Given the description of an element on the screen output the (x, y) to click on. 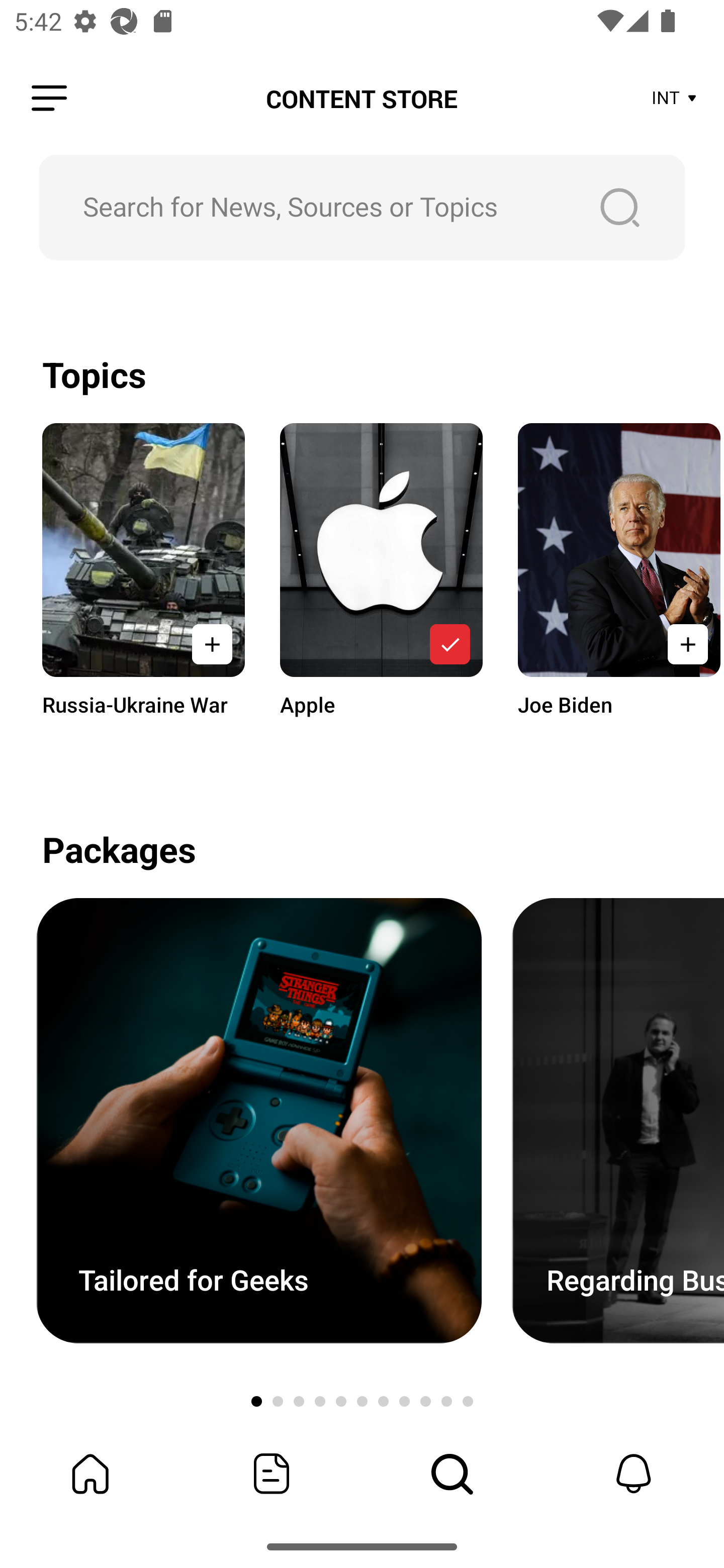
INT Store Area (674, 98)
Leading Icon (49, 98)
Search for News, Sources or Topics Search Button (361, 207)
Add To My Bundle (212, 644)
Add To My Bundle (449, 644)
Add To My Bundle (684, 644)
My Bundle (90, 1473)
Featured (271, 1473)
Notifications (633, 1473)
